Given the description of an element on the screen output the (x, y) to click on. 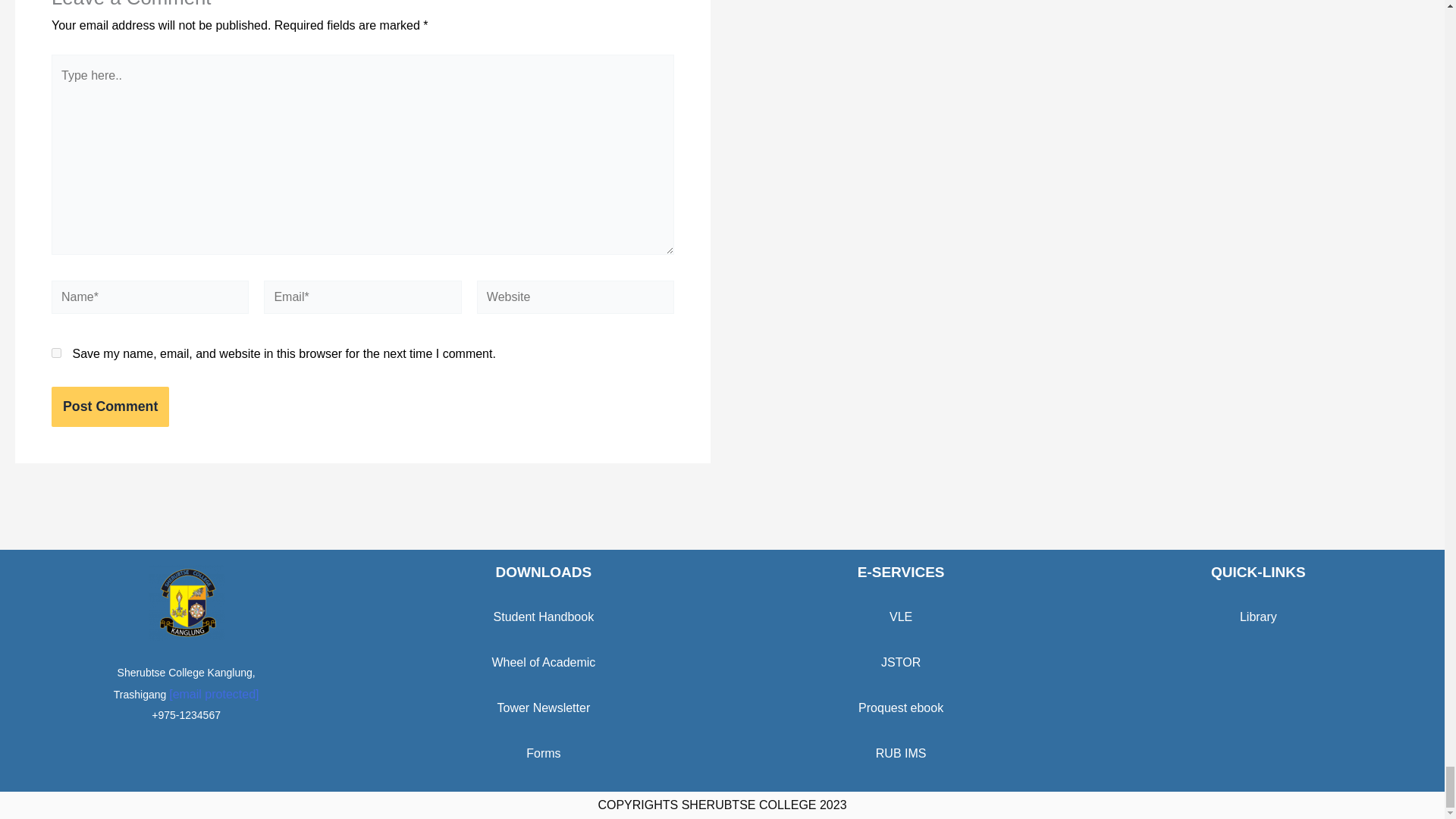
Post Comment (109, 406)
yes (55, 352)
